Given the description of an element on the screen output the (x, y) to click on. 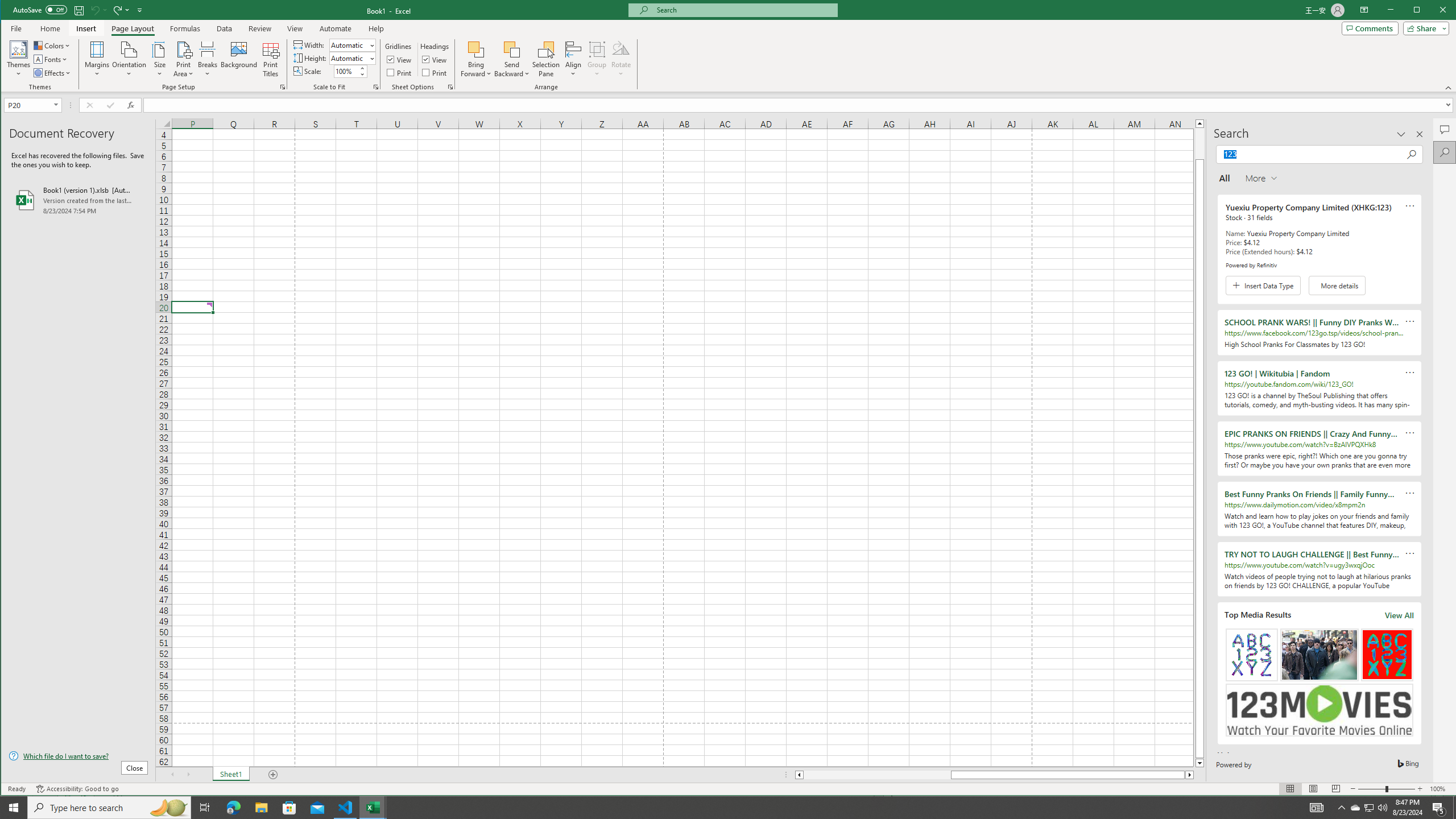
Bring Forward (476, 59)
Microsoft Edge (233, 807)
Page up (1199, 142)
Show desktop (1454, 807)
Width (349, 45)
Breaks (207, 59)
